Given the description of an element on the screen output the (x, y) to click on. 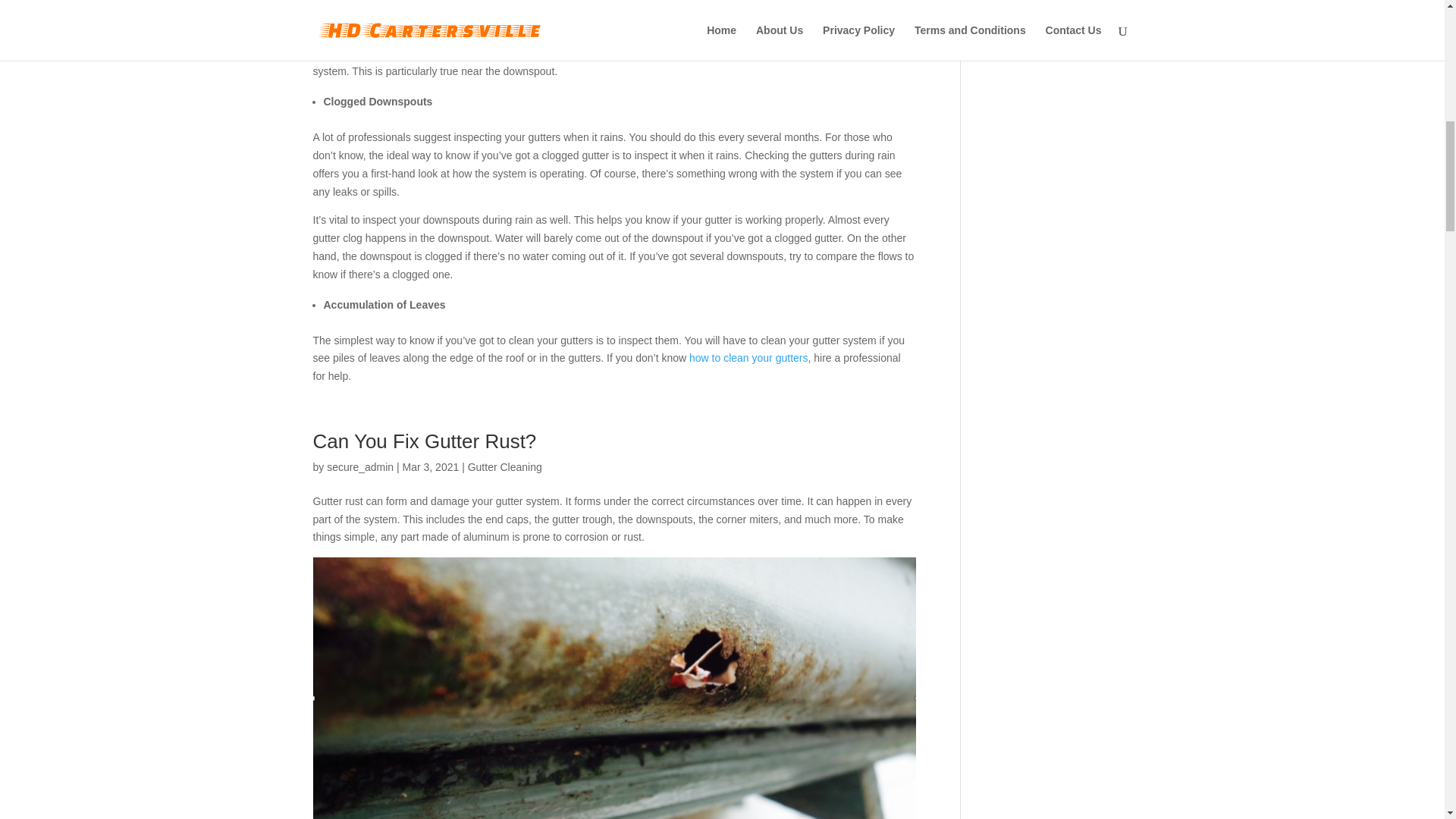
Can You Fix Gutter Rust? (424, 440)
Gutter Cleaning (504, 467)
how to clean your gutters (748, 357)
